Given the description of an element on the screen output the (x, y) to click on. 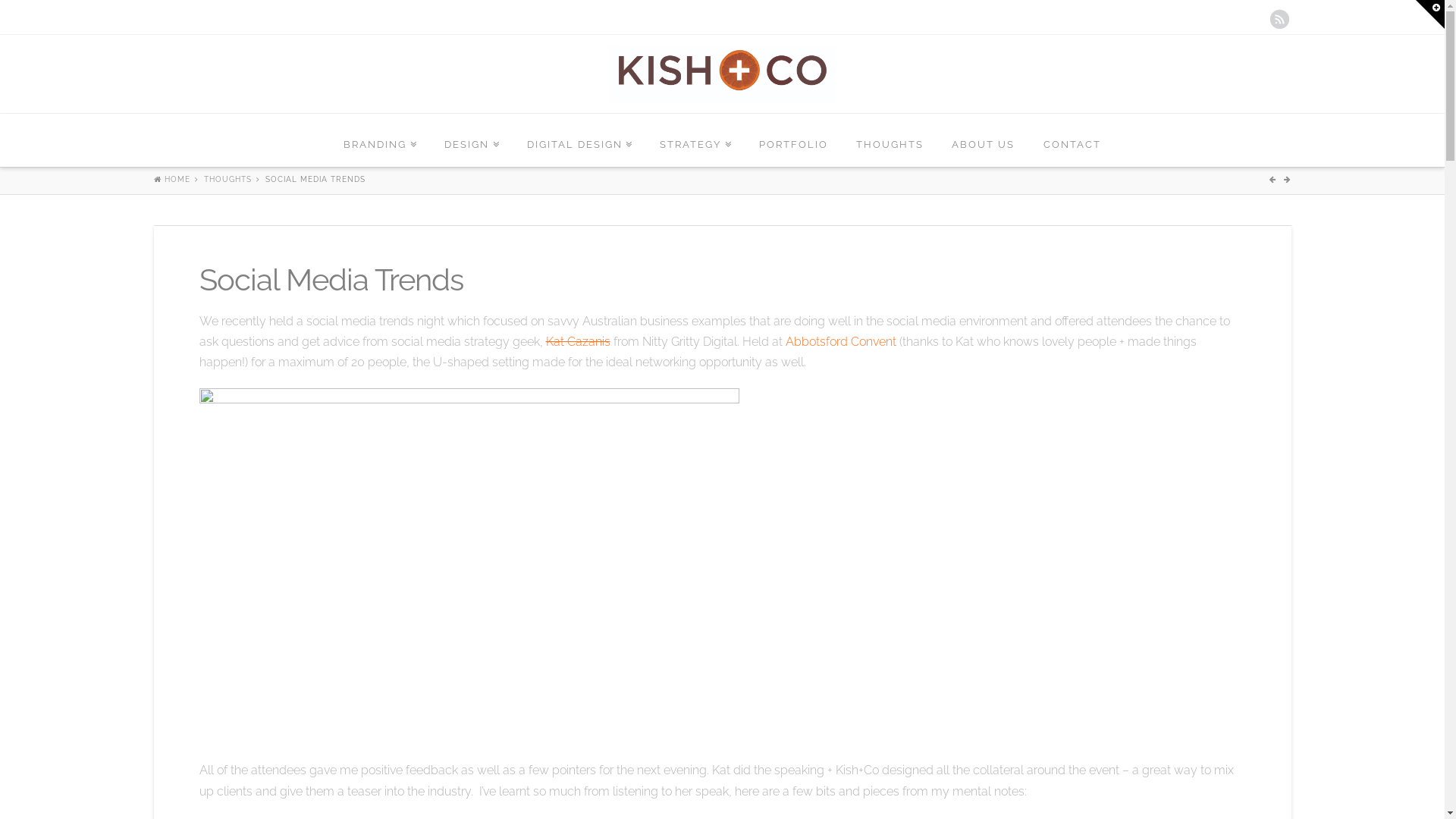
BRANDING Element type: text (379, 139)
Next Post Element type: hover (1286, 179)
THOUGHTS Element type: text (227, 179)
DESIGN Element type: text (471, 139)
Toggle the Widgetbar Element type: text (1429, 14)
PORTFOLIO Element type: text (793, 139)
Social_Media_2012_3 Element type: hover (468, 558)
Kat Cazanis Element type: text (578, 341)
THOUGHTS Element type: text (890, 139)
Previous Post Element type: hover (1274, 179)
CONTACT Element type: text (1071, 139)
DIGITAL DESIGN Element type: text (579, 139)
HOME Element type: text (171, 179)
STRATEGY Element type: text (695, 139)
Abbotsford Convent Element type: text (840, 341)
ABOUT US Element type: text (983, 139)
